Given the description of an element on the screen output the (x, y) to click on. 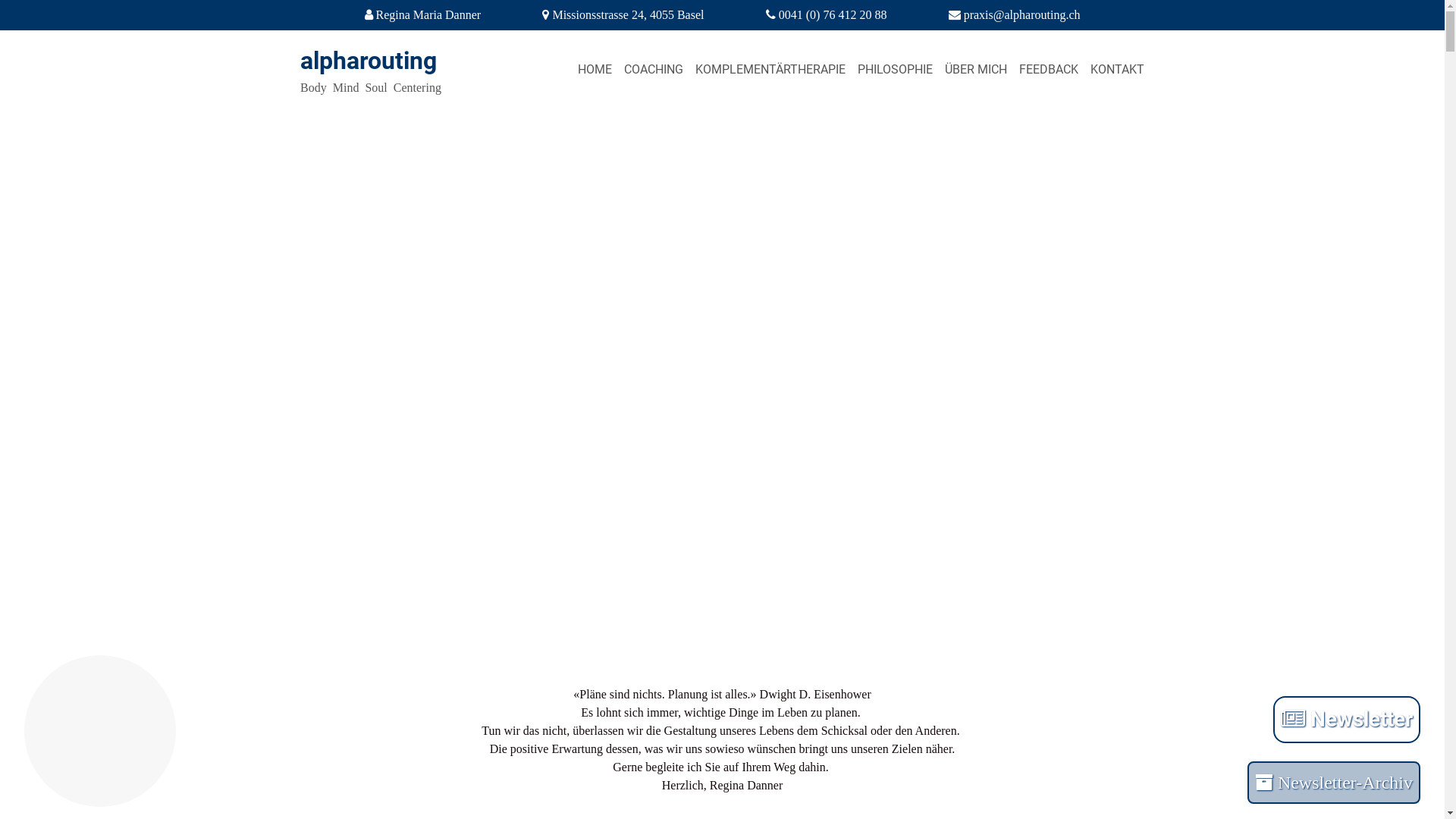
HOME Element type: text (594, 69)
praxis@alpharouting.ch Element type: text (1021, 14)
alpharouting
Body  Mind  Soul  Centering Element type: text (438, 69)
PHILOSOPHIE Element type: text (894, 69)
COACHING Element type: text (653, 69)
KONTAKT Element type: text (1117, 69)
FEEDBACK Element type: text (1048, 69)
